Given the description of an element on the screen output the (x, y) to click on. 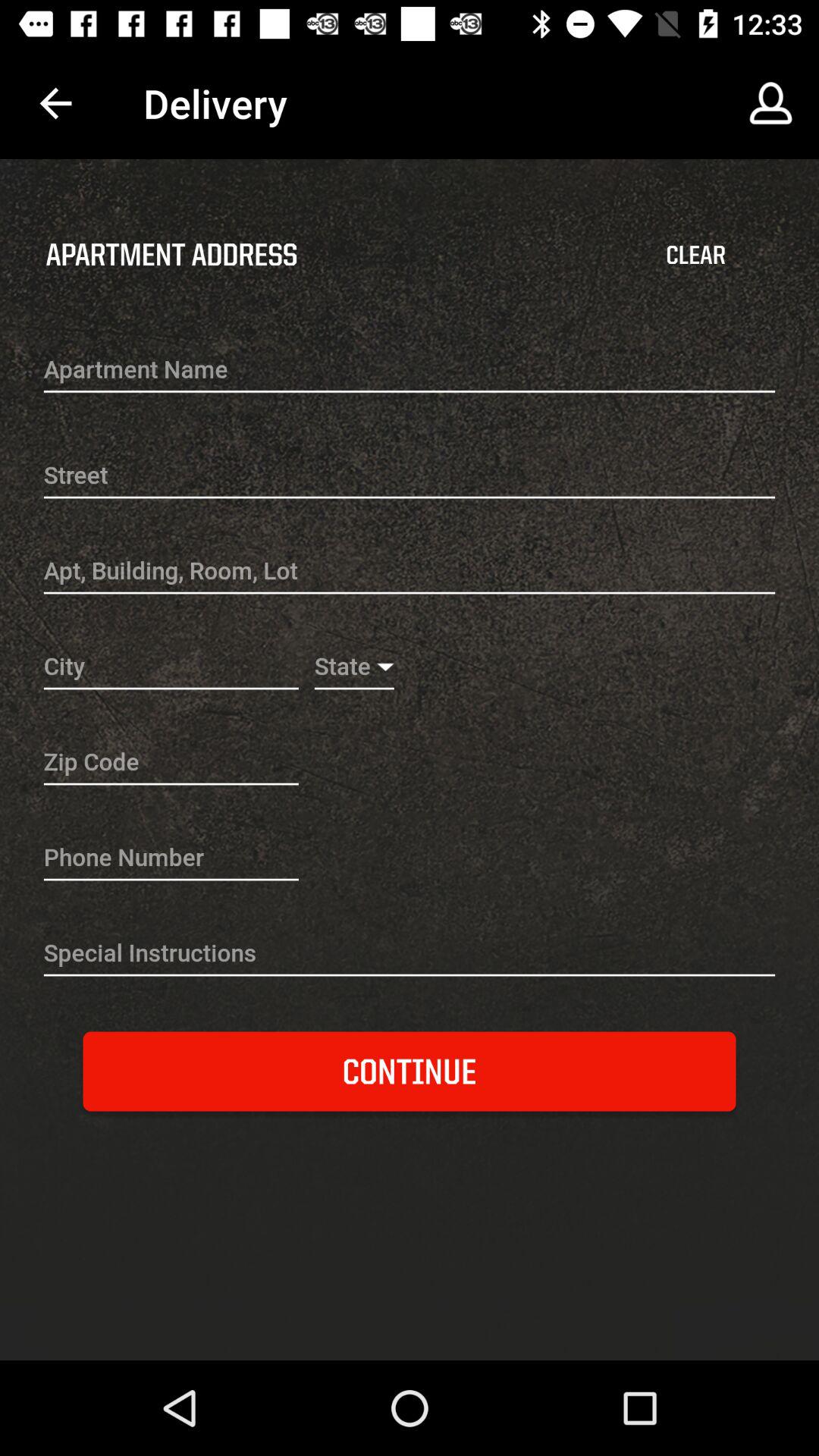
click app next to delivery app (55, 103)
